Given the description of an element on the screen output the (x, y) to click on. 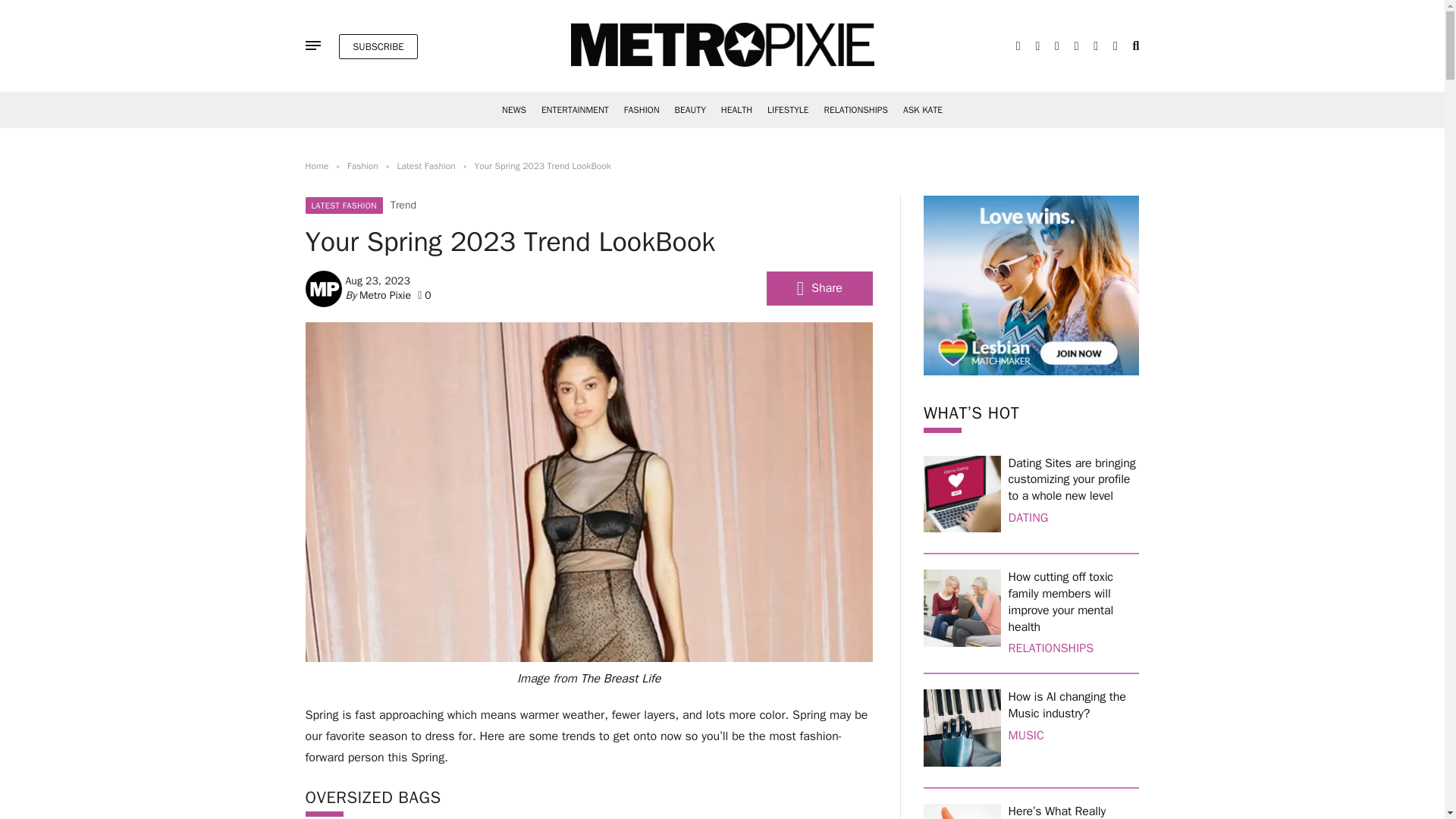
SUBSCRIBE (377, 46)
ENTERTAINMENT (574, 110)
FASHION (641, 110)
BEAUTY (690, 110)
NEWS (513, 110)
LIFESTYLE (787, 110)
HEALTH (736, 110)
